Given the description of an element on the screen output the (x, y) to click on. 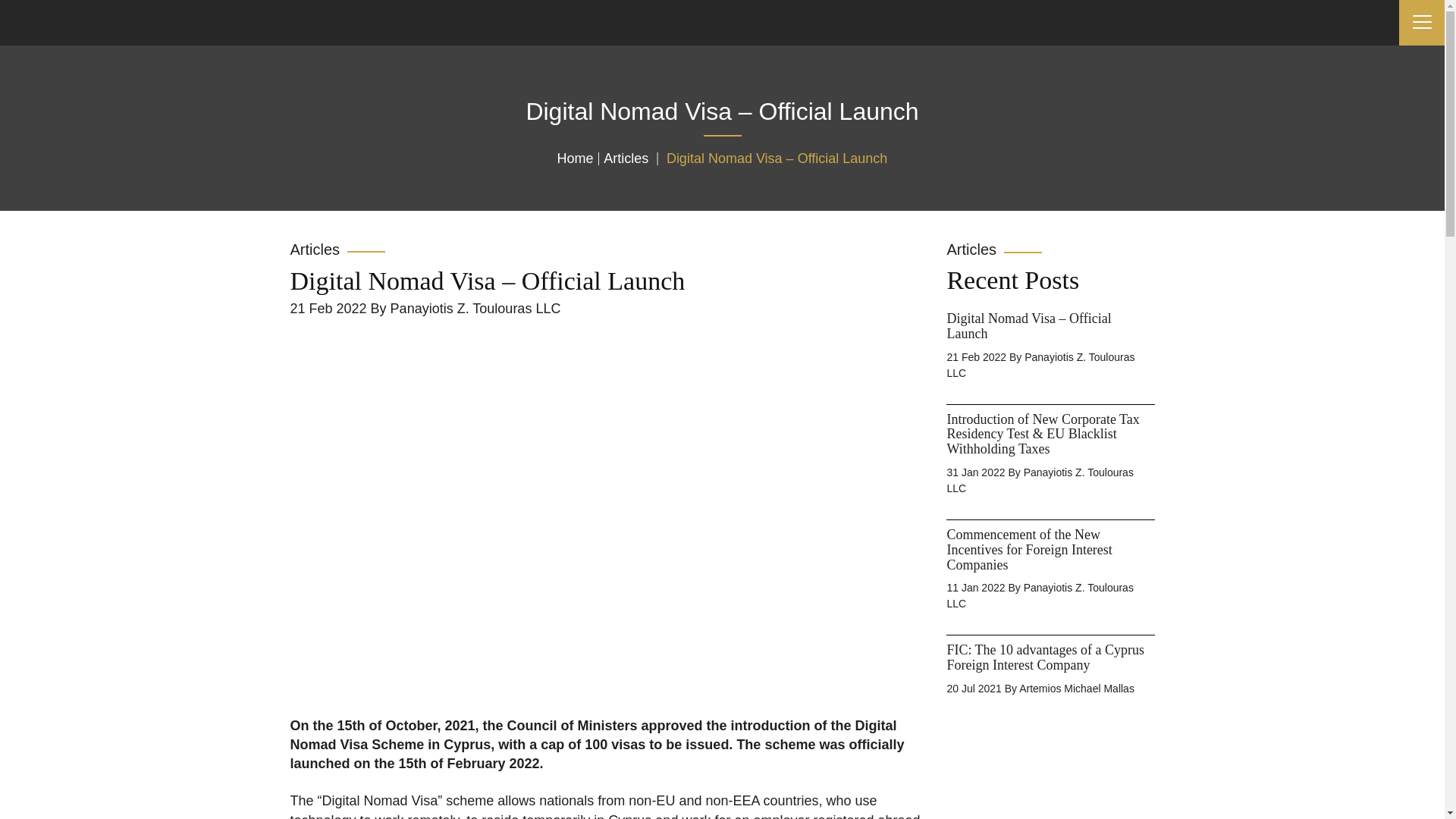
Home (575, 158)
Articles (625, 158)
FIC: The 10 advantages of a Cyprus Foreign Interest Company (1045, 657)
